Given the description of an element on the screen output the (x, y) to click on. 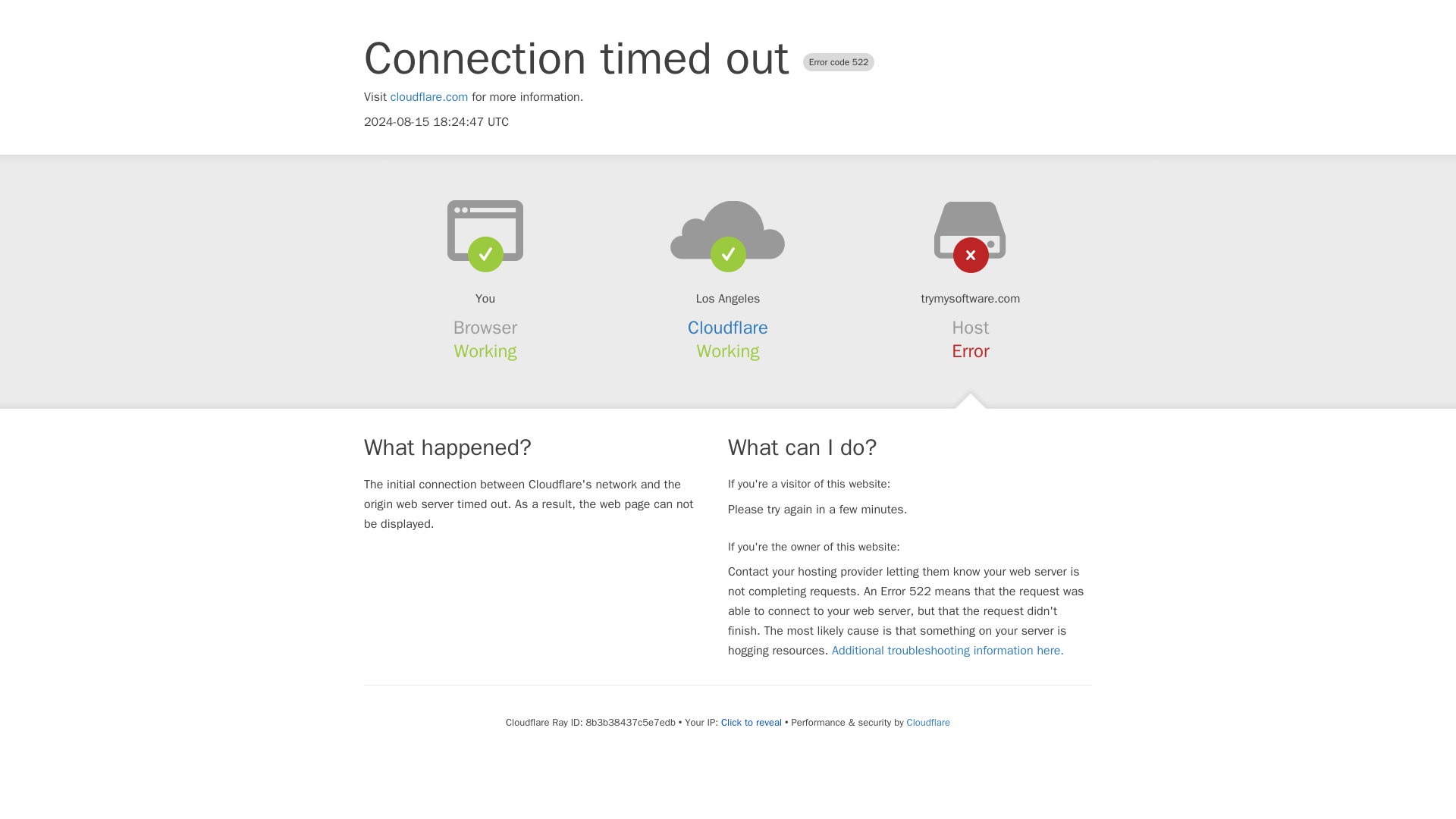
Click to reveal (750, 722)
Additional troubleshooting information here. (947, 650)
cloudflare.com (429, 96)
Cloudflare (727, 327)
Cloudflare (928, 721)
